Given the description of an element on the screen output the (x, y) to click on. 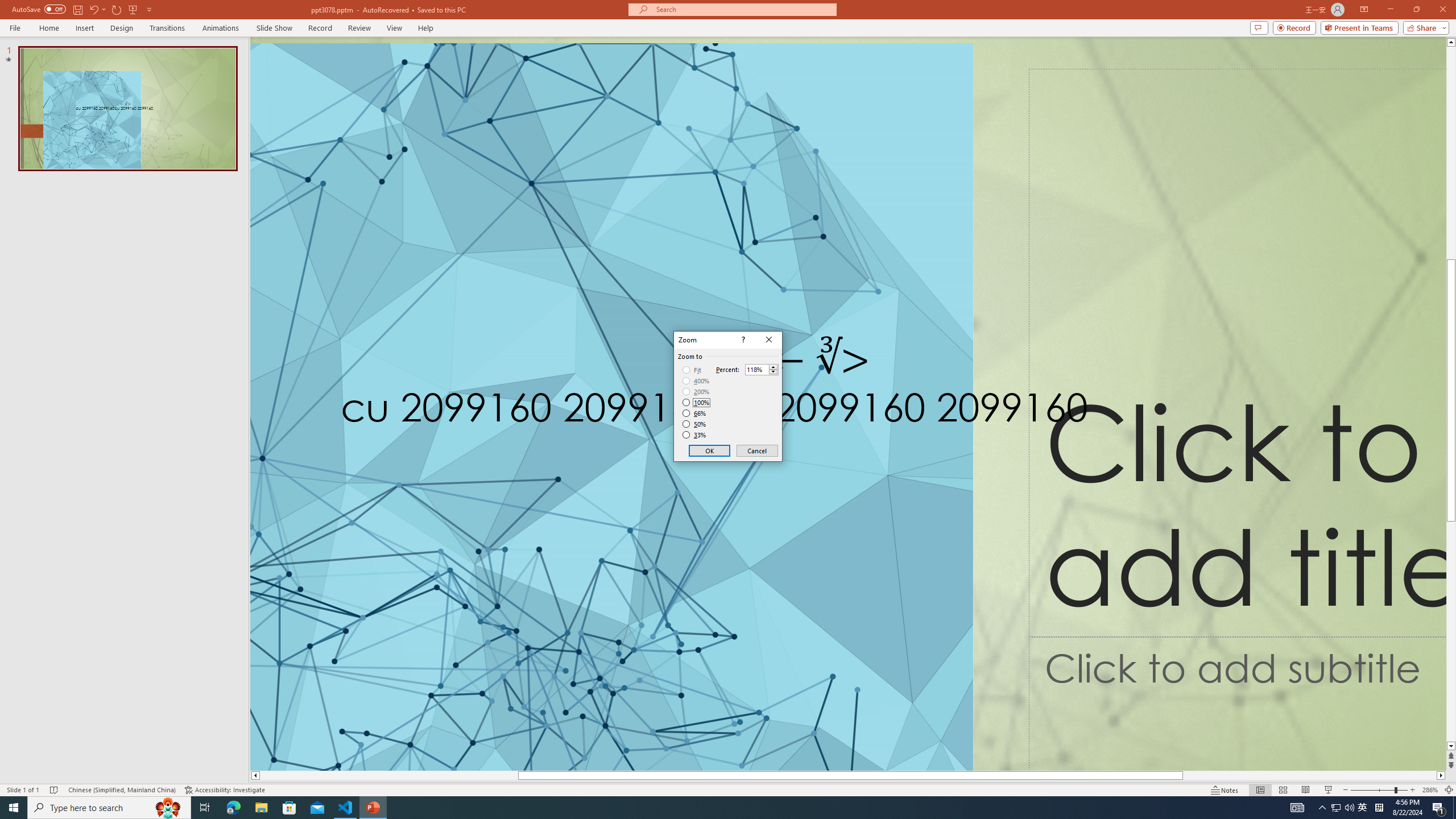
Action Center, 1 new notification (1439, 807)
